Given the description of an element on the screen output the (x, y) to click on. 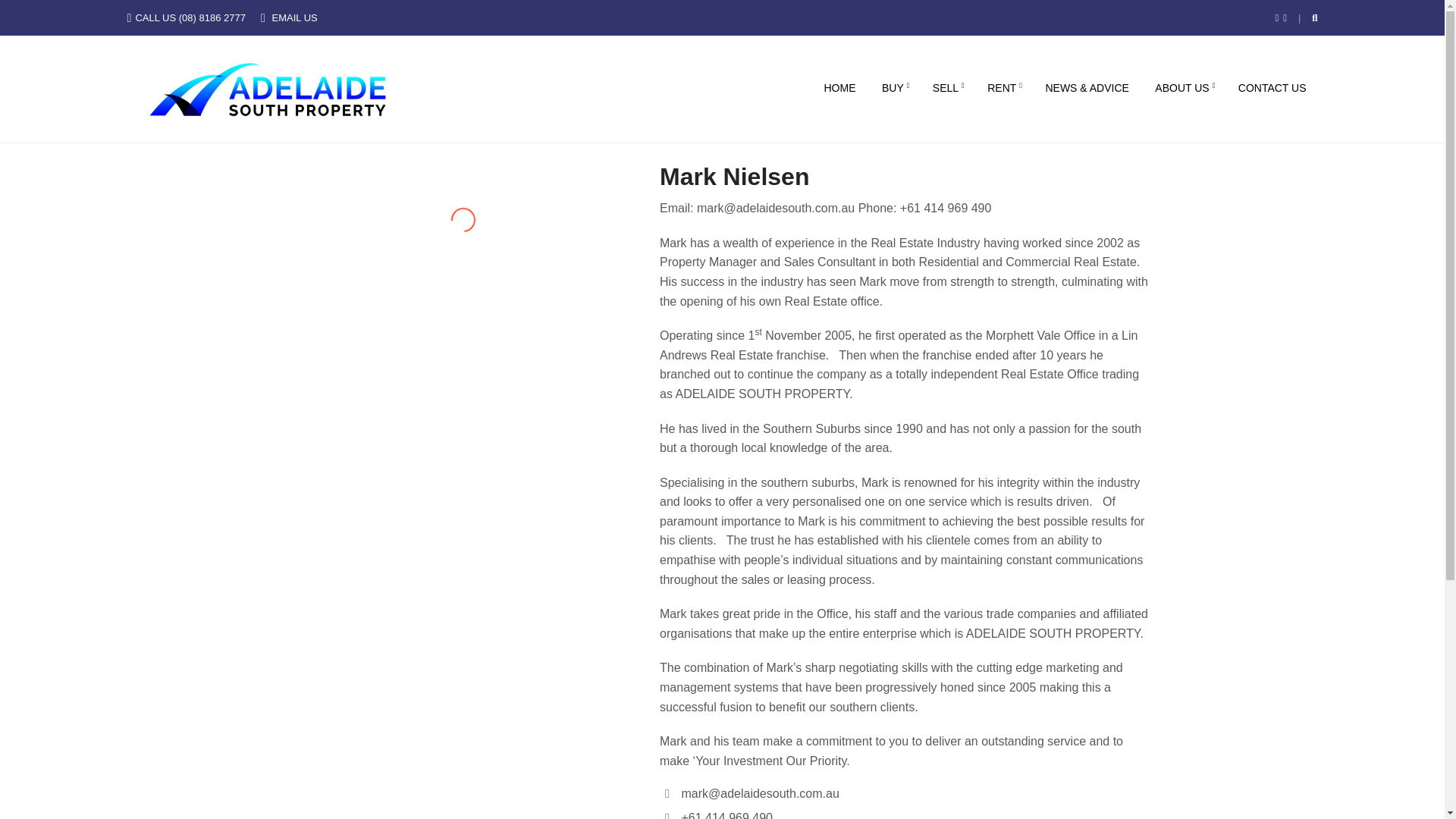
SELL (946, 88)
RENT (1003, 88)
EMAIL US (294, 17)
BUY (893, 88)
ABOUT US (1182, 88)
HOME (840, 88)
CONTACT US (1272, 88)
